Given the description of an element on the screen output the (x, y) to click on. 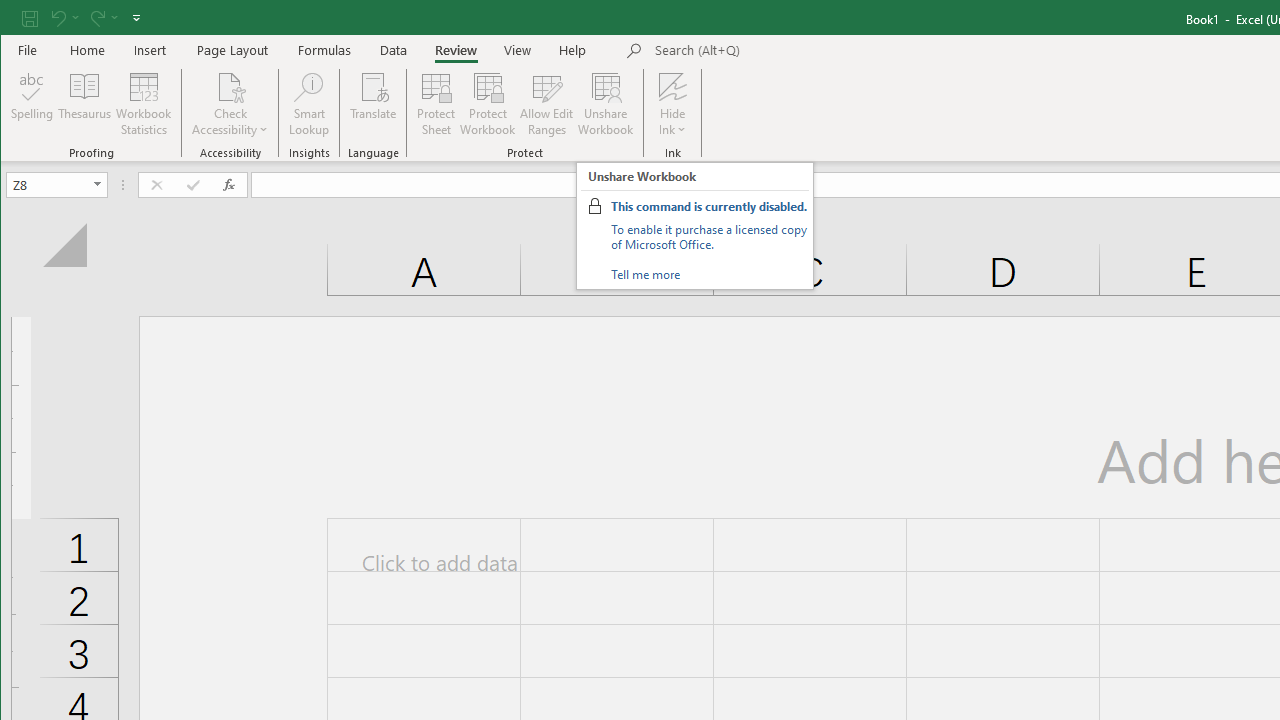
Spelling... (32, 104)
Thesaurus... (84, 104)
Protect Workbook... (488, 104)
Workbook Statistics (143, 104)
